Given the description of an element on the screen output the (x, y) to click on. 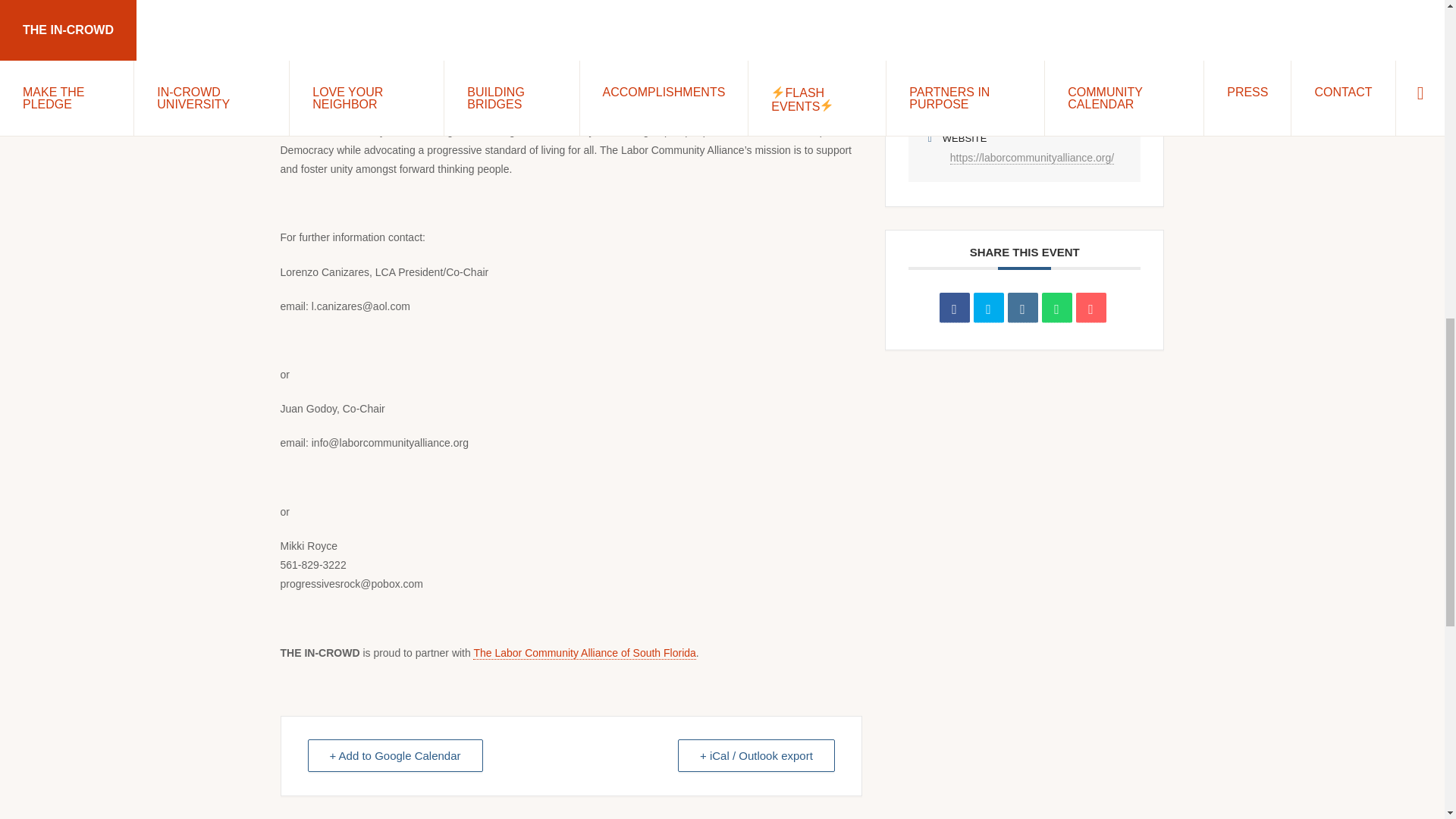
Share on WhatsApp (1056, 307)
Email (1090, 307)
Linkedin (1022, 307)
Tweet (989, 307)
Share on Facebook (954, 307)
The Labor Community Alliance of South Florida (584, 653)
